Given the description of an element on the screen output the (x, y) to click on. 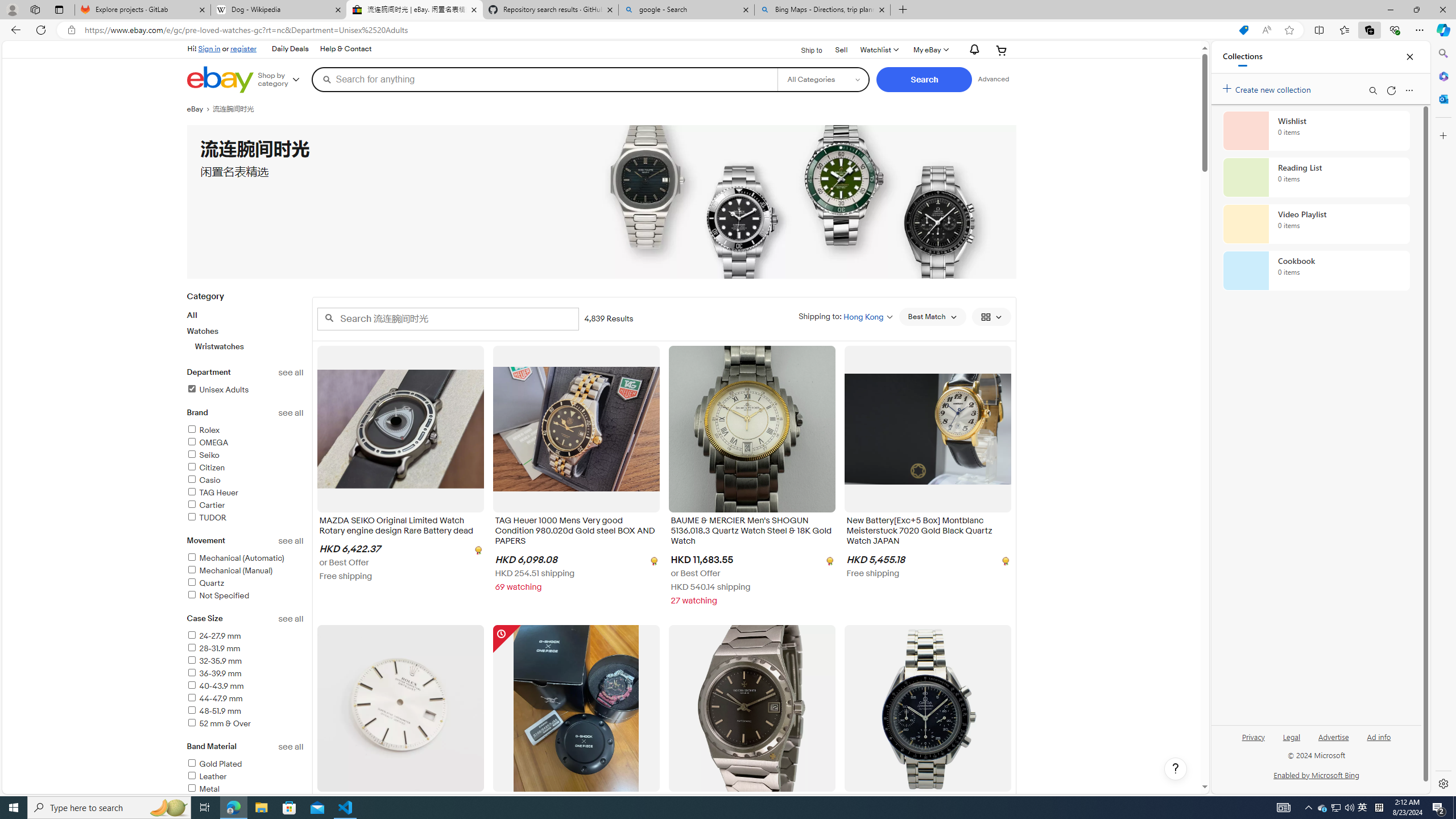
Rolex (245, 430)
See all band material refinements (291, 747)
WatchesWristwatches (245, 338)
Quartz (245, 583)
Ship to (804, 50)
Gold Plated (213, 764)
AutomationID: gh-eb-Alerts (972, 49)
